Given the description of an element on the screen output the (x, y) to click on. 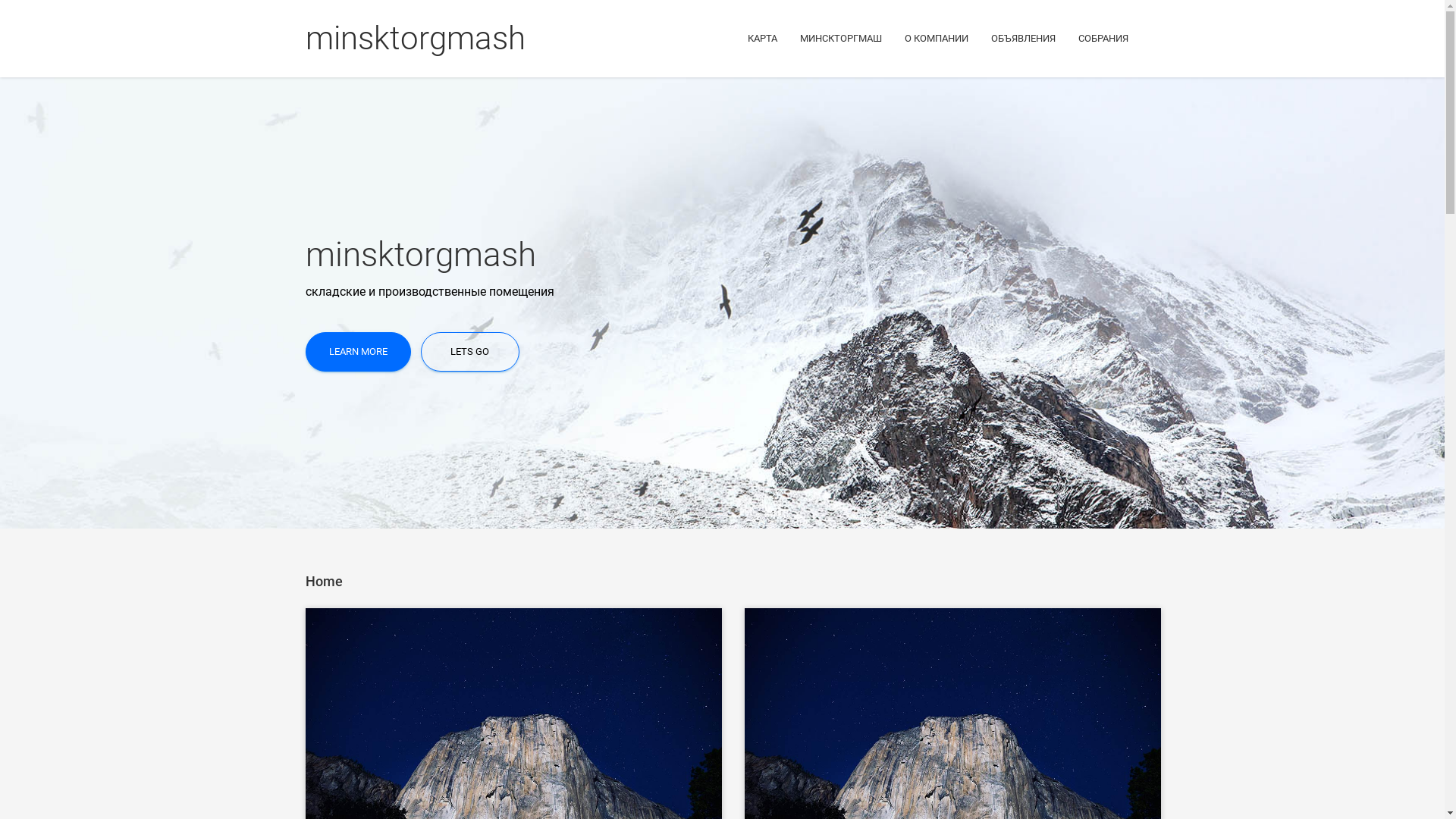
LETS GO Element type: text (469, 351)
minsktorgmash Element type: text (414, 37)
LEARN MORE Element type: text (357, 351)
